Given the description of an element on the screen output the (x, y) to click on. 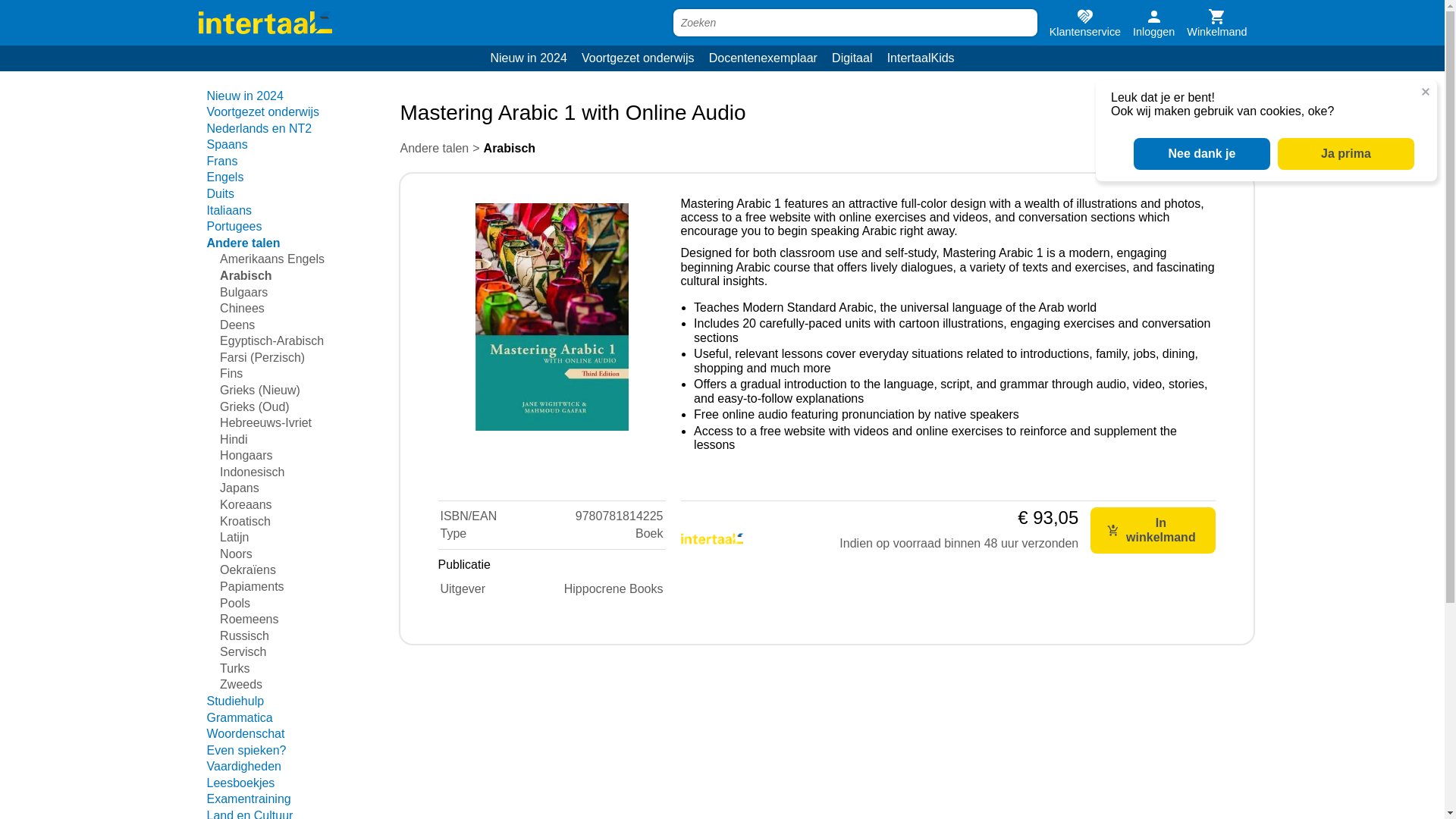
Voortgezet onderwijs (262, 111)
IntertaalKids (919, 58)
Winkelmand (1216, 22)
Digitaal (852, 58)
Deens (236, 324)
Portugees (234, 226)
Nieuw in 2024 (244, 95)
Hindi (233, 439)
Fins (231, 373)
Spaans (226, 144)
Nederlands en NT2 (258, 128)
Chinees (241, 308)
Winkelmand (1216, 22)
Docentenexemplaar (762, 58)
Nieuw in 2024 (529, 58)
